Given the description of an element on the screen output the (x, y) to click on. 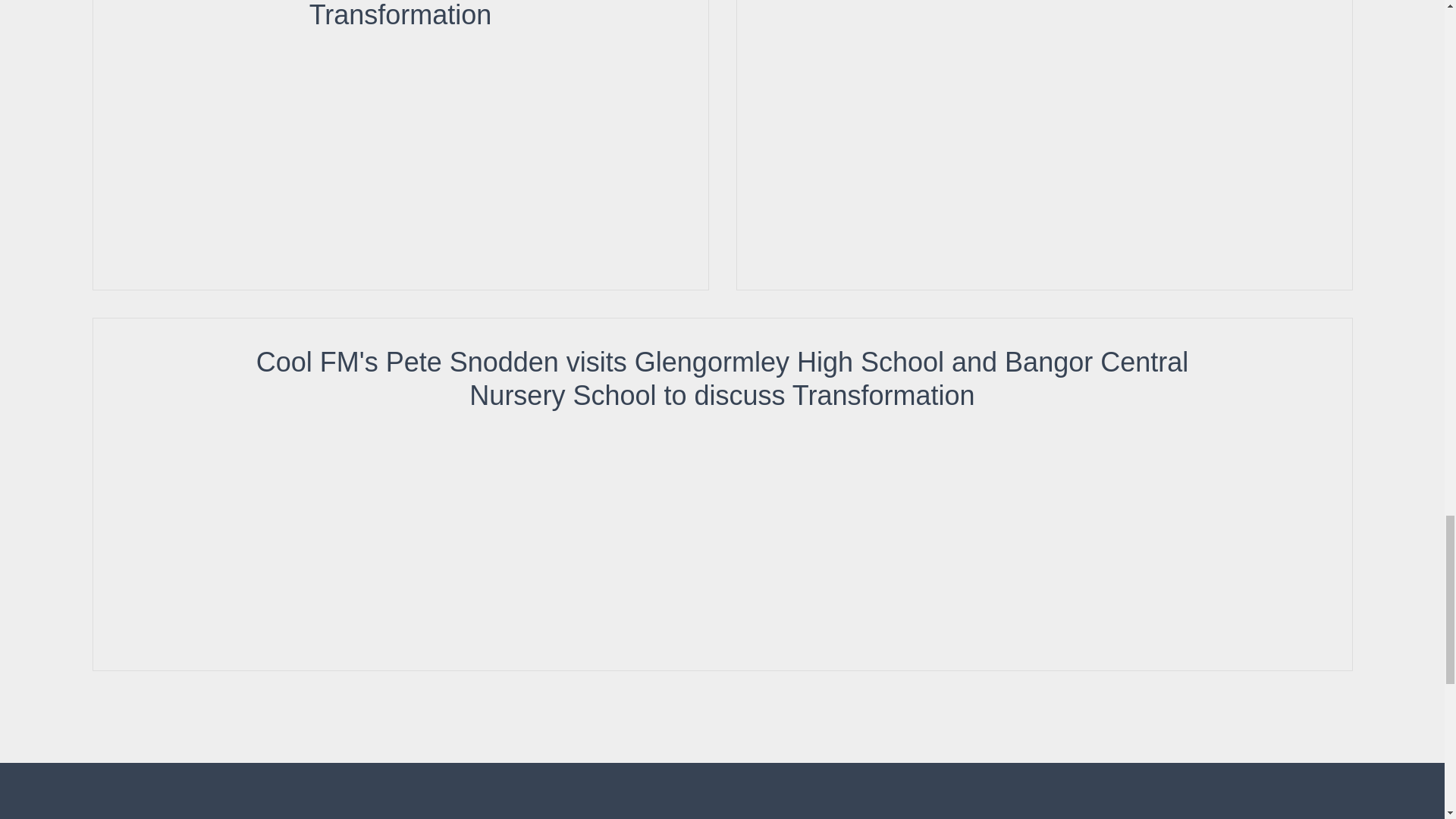
Your Say, Their Future (1043, 116)
